Given the description of an element on the screen output the (x, y) to click on. 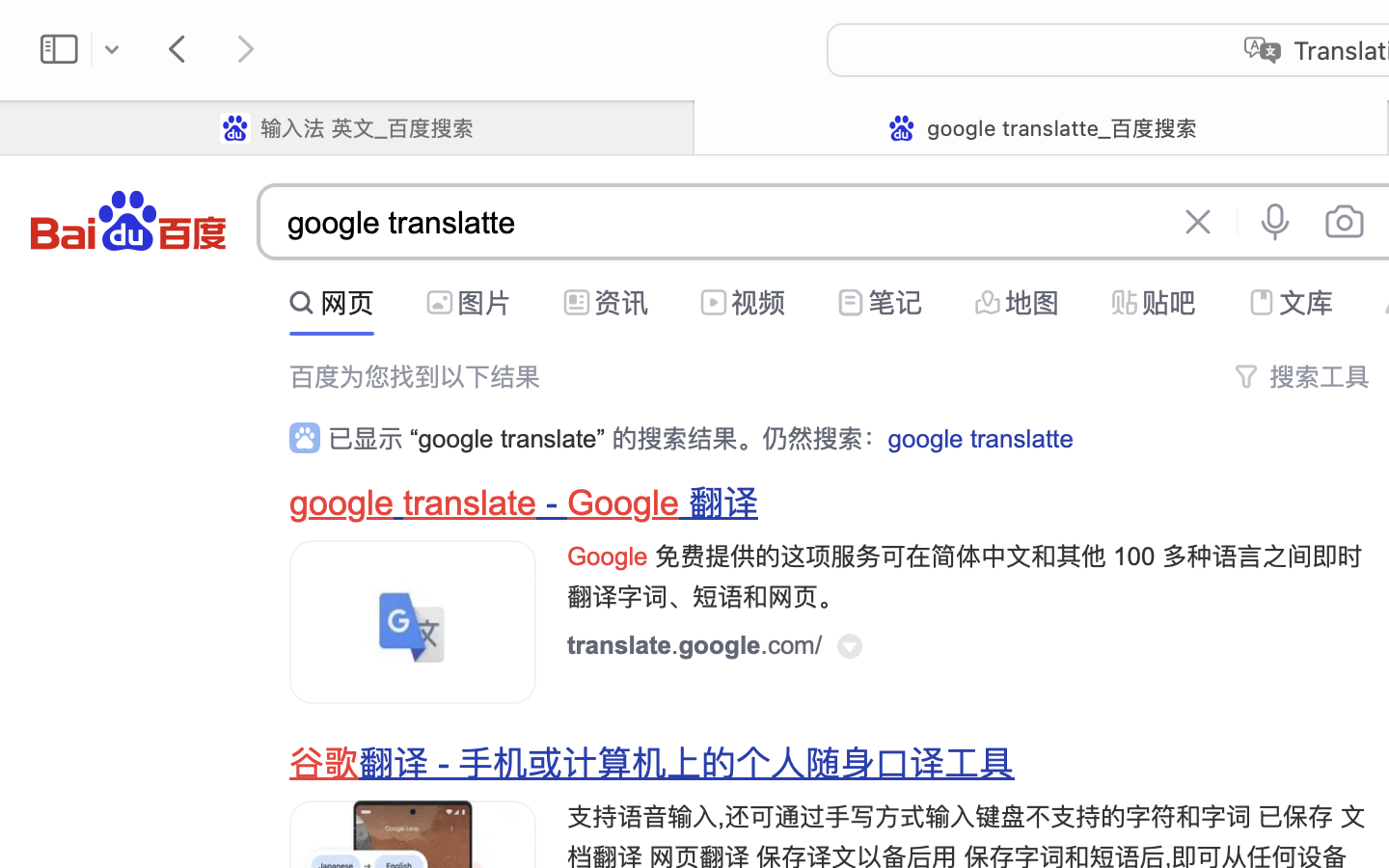
时间不限 Element type: AXStaticText (339, 297)
google Element type: AXStaticText (342, 503)
资讯 Element type: AXStaticText (621, 302)
translate Element type: AXStaticText (470, 503)
 Element type: AXStaticText (850, 302)
